Given the description of an element on the screen output the (x, y) to click on. 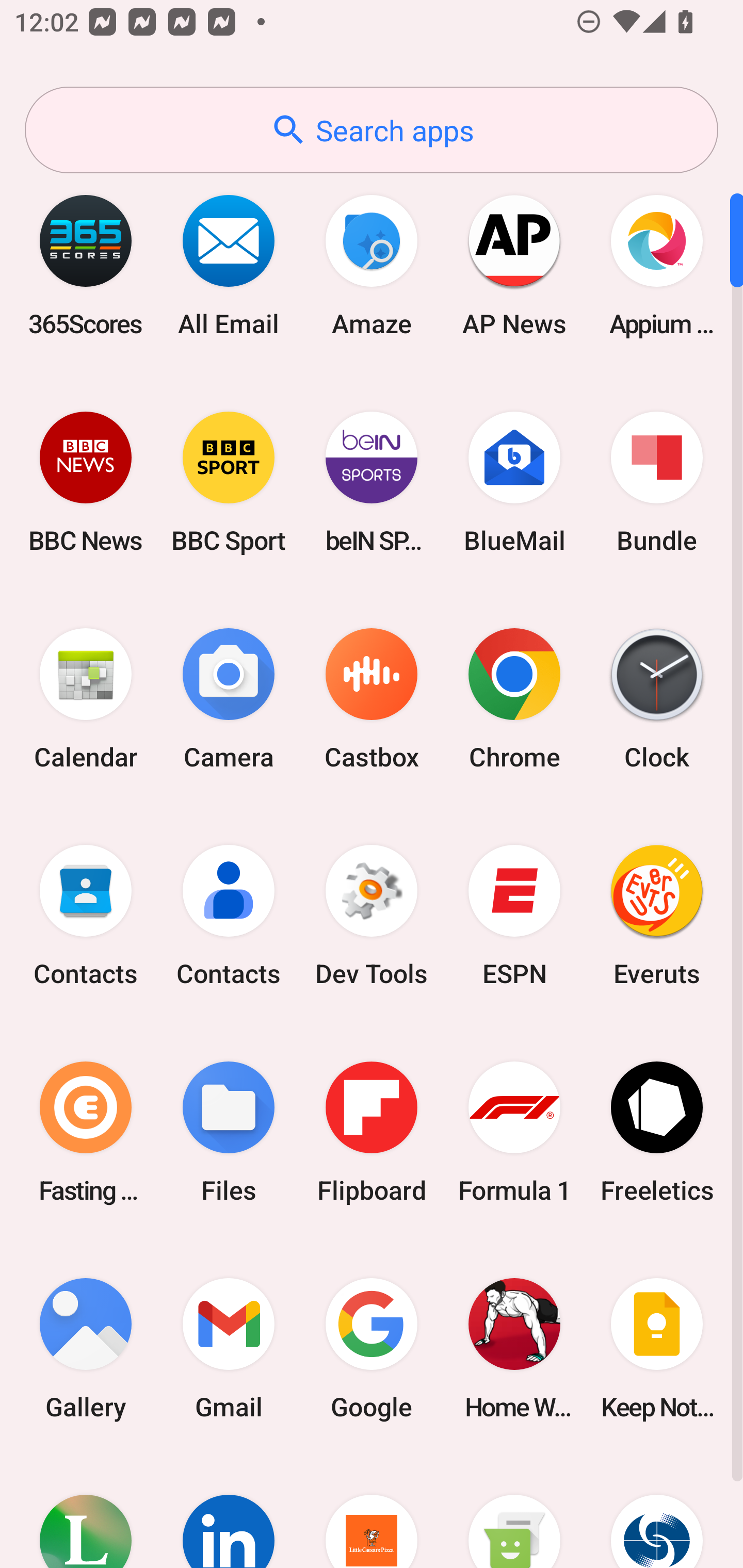
  Search apps (371, 130)
365Scores (85, 264)
All Email (228, 264)
Amaze (371, 264)
AP News (514, 264)
Appium Settings (656, 264)
BBC News (85, 482)
BBC Sport (228, 482)
beIN SPORTS (371, 482)
BlueMail (514, 482)
Bundle (656, 482)
Calendar (85, 699)
Camera (228, 699)
Castbox (371, 699)
Chrome (514, 699)
Clock (656, 699)
Contacts (85, 915)
Contacts (228, 915)
Dev Tools (371, 915)
ESPN (514, 915)
Everuts (656, 915)
Fasting Coach (85, 1131)
Files (228, 1131)
Flipboard (371, 1131)
Formula 1 (514, 1131)
Freeletics (656, 1131)
Gallery (85, 1348)
Gmail (228, 1348)
Google (371, 1348)
Home Workout (514, 1348)
Keep Notes (656, 1348)
